Given the description of an element on the screen output the (x, y) to click on. 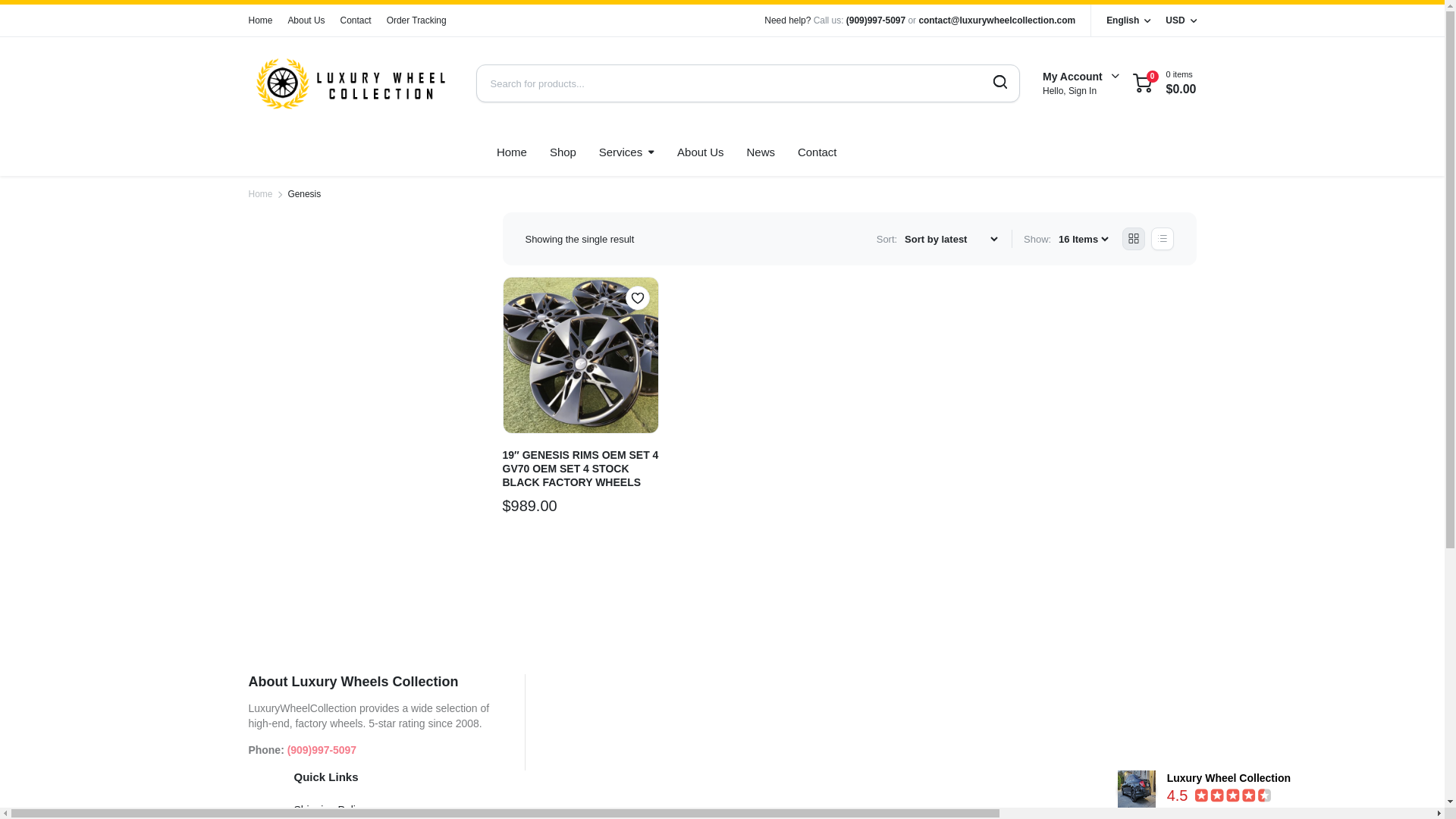
Shop (563, 152)
Contact (816, 152)
Luxury Wheel Collection (1137, 789)
Grid Products (1133, 238)
Luxury Wheel Collection (350, 82)
List Products (1162, 238)
Home (260, 193)
Order Tracking (416, 20)
Contact (355, 20)
English (1128, 20)
About Us (700, 152)
Home (511, 152)
USD (1180, 20)
News (760, 152)
Shift-click to edit this widget. (371, 729)
